Given the description of an element on the screen output the (x, y) to click on. 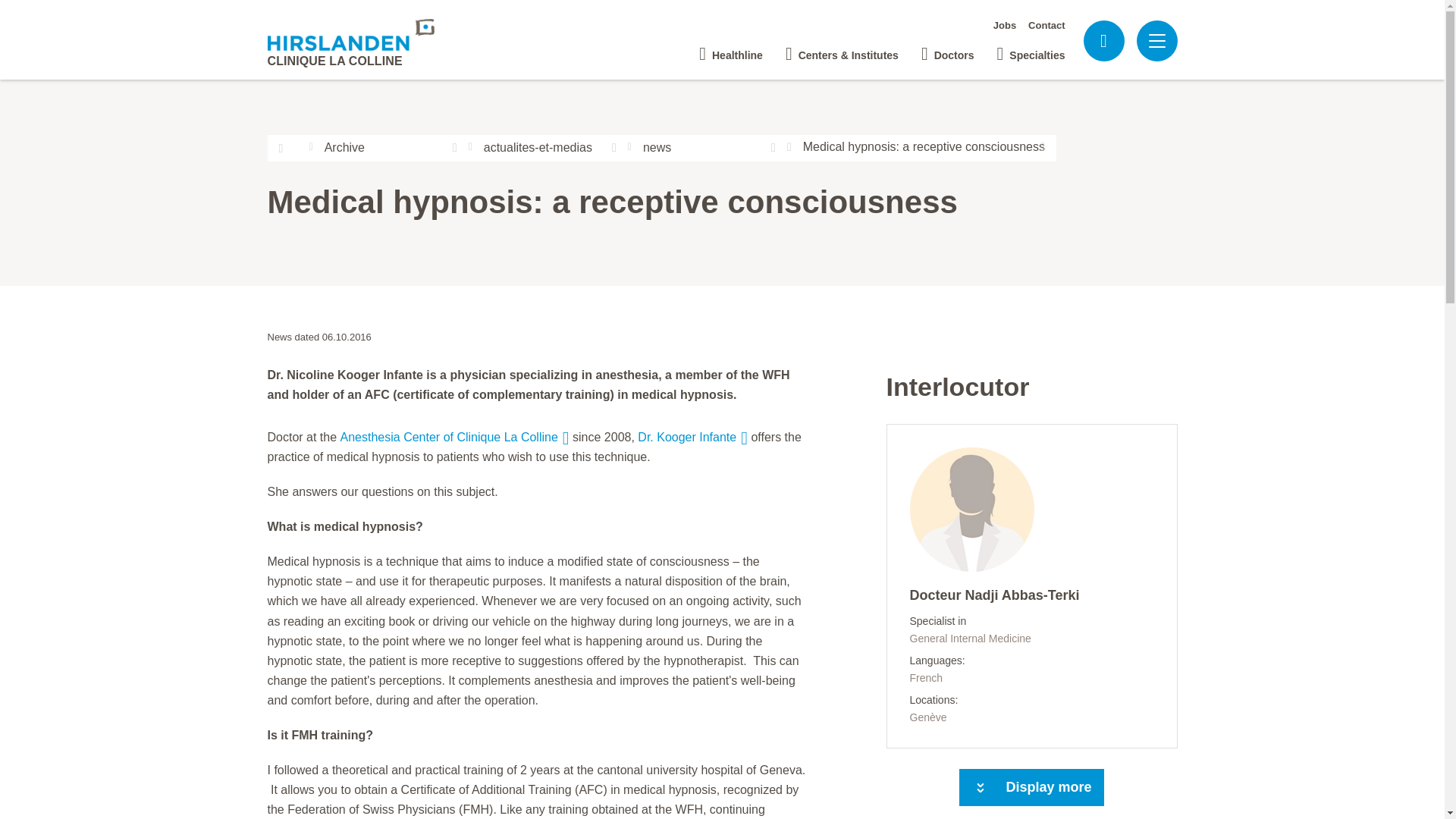
Hirslanden (349, 34)
Docteur Nadji Abbas-Terki (971, 515)
Healthline (730, 48)
Contact (1045, 25)
Docteur Nadji Abbas-Terki (1032, 653)
Doctors (947, 48)
Jobs (1004, 25)
Menu (1155, 40)
Specialties (1031, 48)
CLINIQUE LA COLLINE (349, 42)
